Given the description of an element on the screen output the (x, y) to click on. 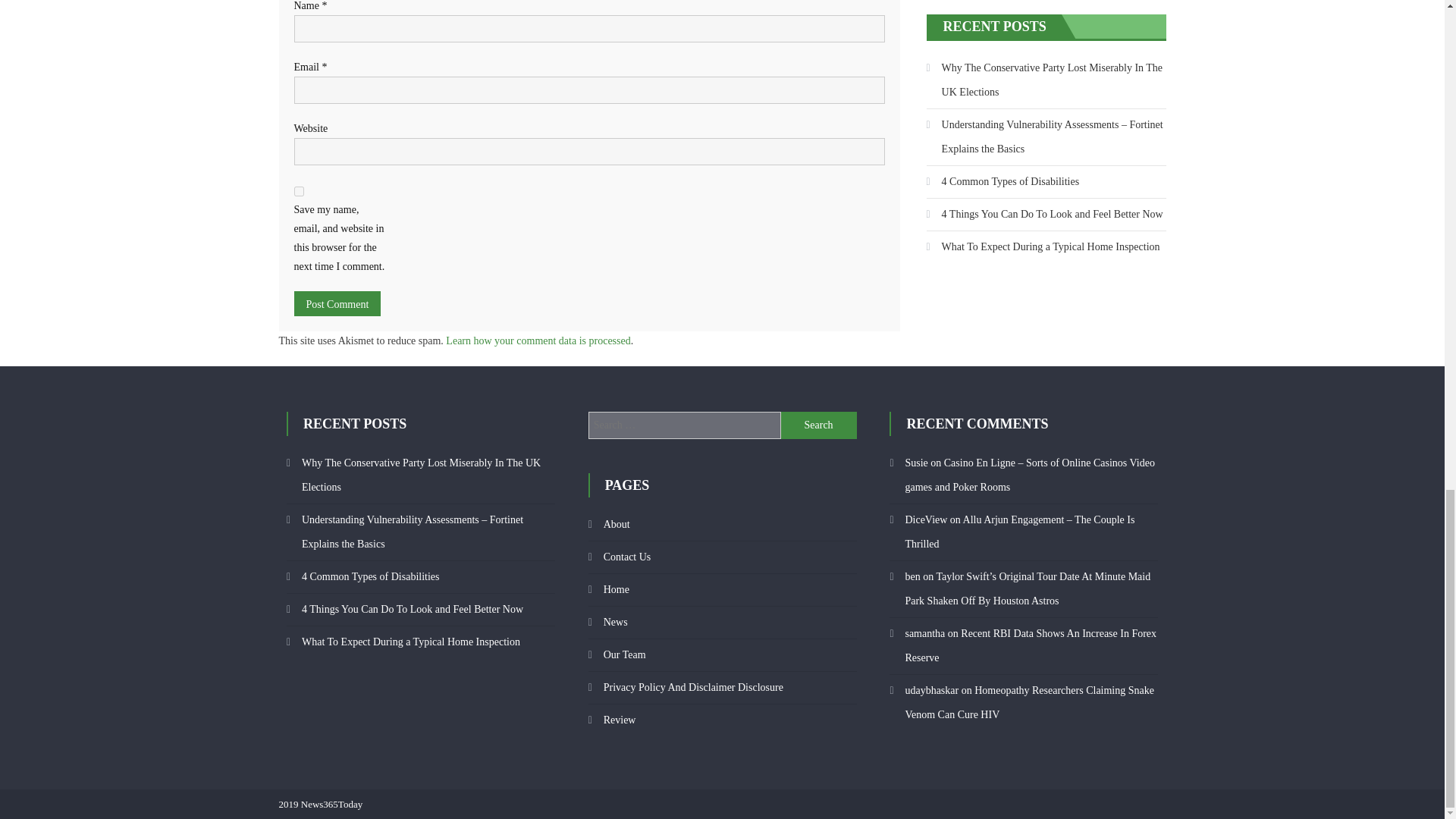
Search (818, 424)
Post Comment (337, 303)
Post Comment (337, 303)
Search (818, 424)
yes (299, 191)
